Given the description of an element on the screen output the (x, y) to click on. 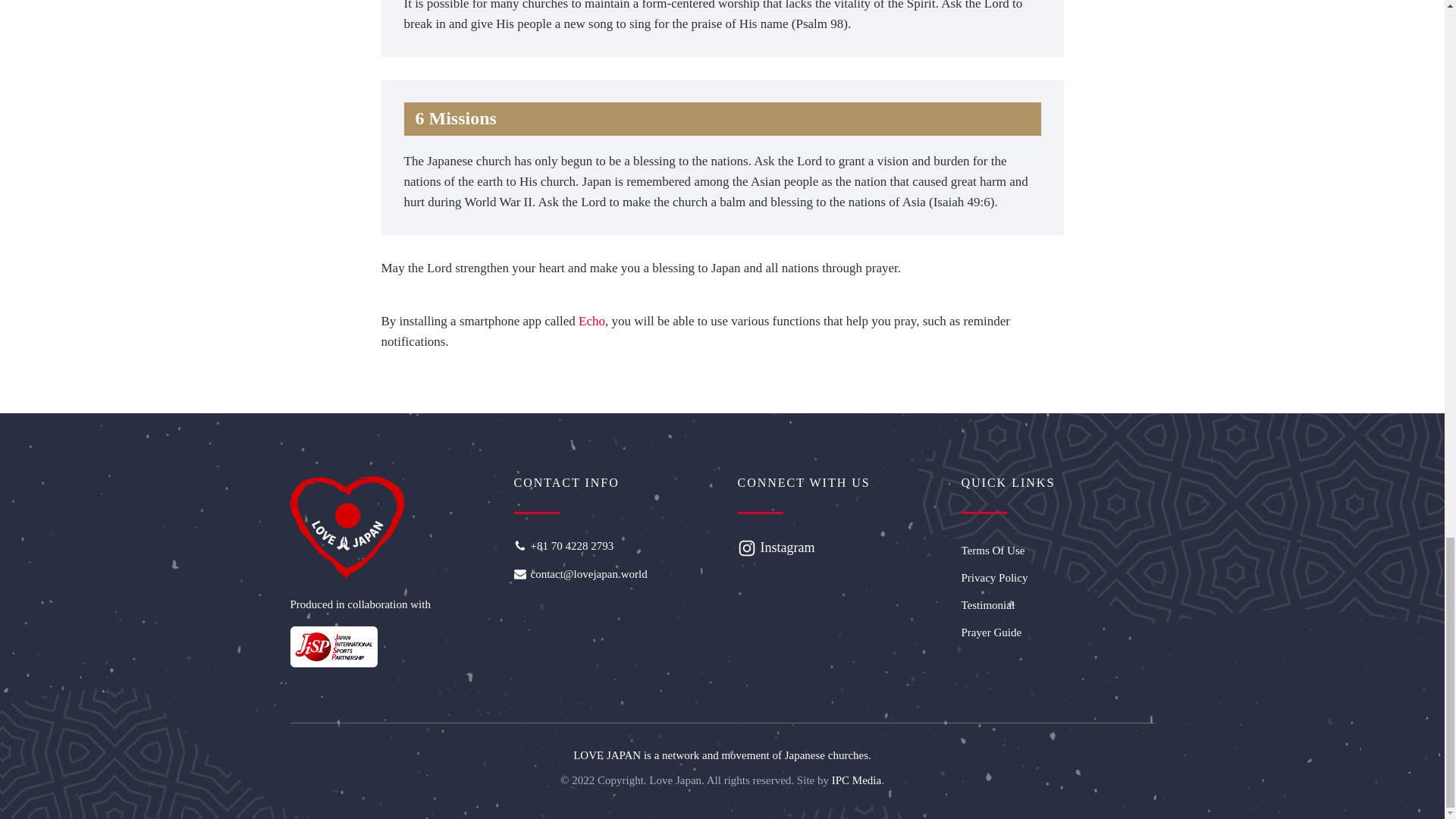
Privacy Policy (1057, 577)
Testimonial (1057, 605)
IPC Media (855, 779)
Terms Of Use (1057, 550)
Instagram (786, 547)
Echo (591, 320)
Prayer Guide (1057, 632)
